Given the description of an element on the screen output the (x, y) to click on. 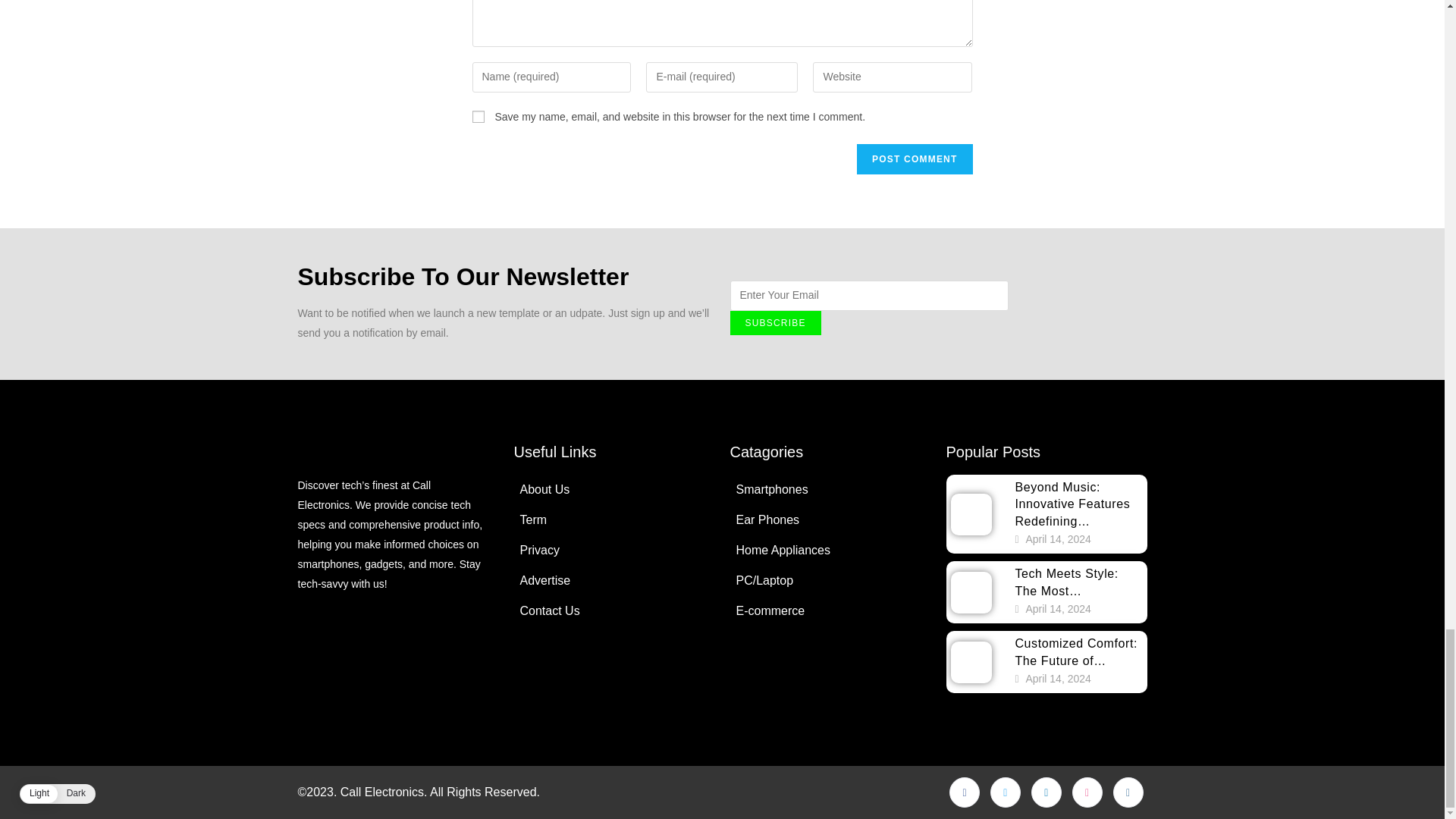
Post Comment (914, 159)
yes (477, 116)
Subscribe (775, 322)
